Given the description of an element on the screen output the (x, y) to click on. 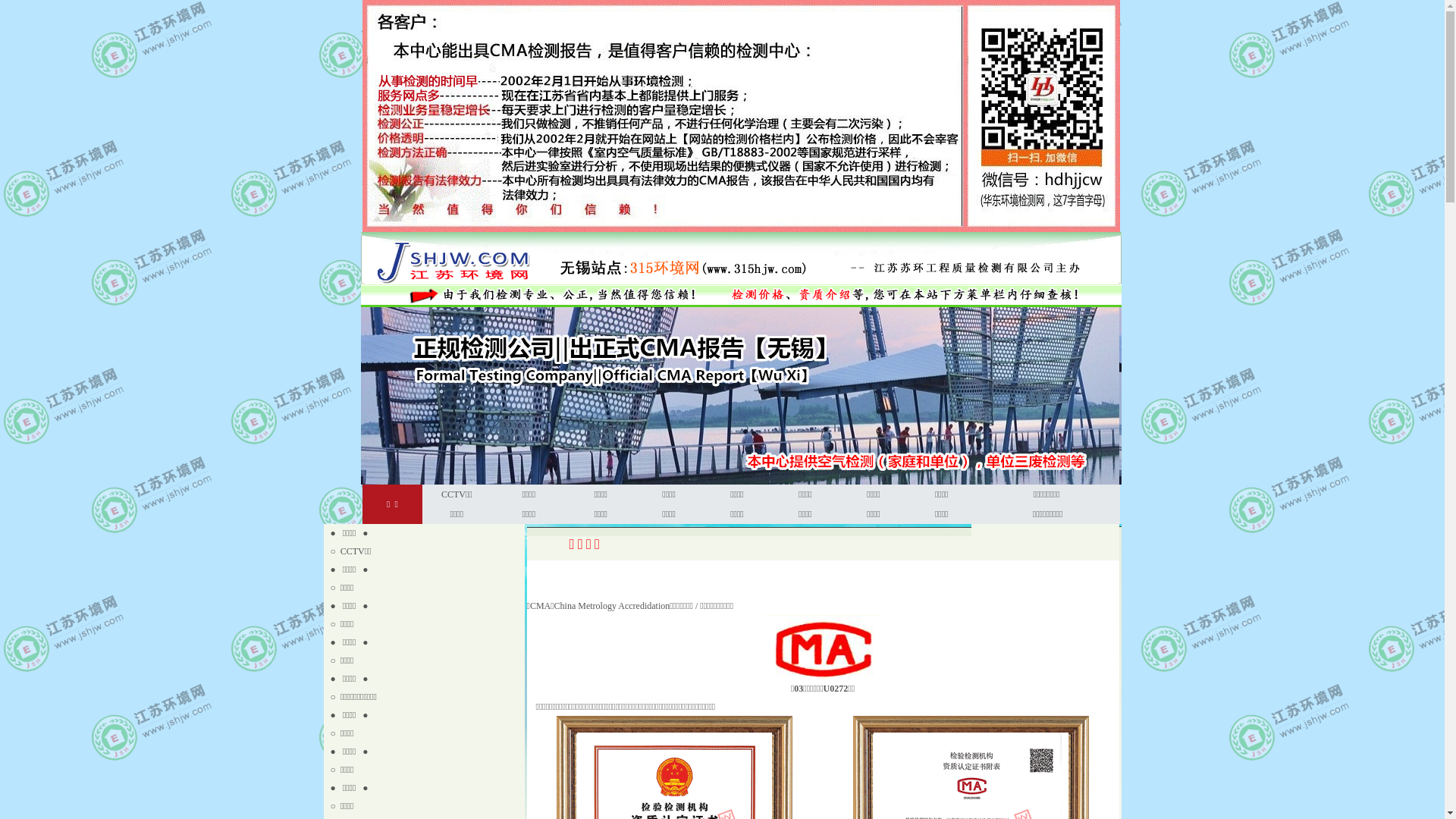
    Element type: text (326, 551)
    Element type: text (326, 696)
    Element type: text (326, 733)
    Element type: text (326, 605)
    Element type: text (326, 532)
    Element type: text (326, 751)
    Element type: text (326, 714)
    Element type: text (326, 569)
    Element type: text (326, 787)
    Element type: text (326, 642)
    Element type: text (326, 660)
    Element type: text (326, 623)
    Element type: text (326, 769)
    Element type: text (326, 678)
    Element type: text (326, 805)
    Element type: text (326, 587)
